Given the description of an element on the screen output the (x, y) to click on. 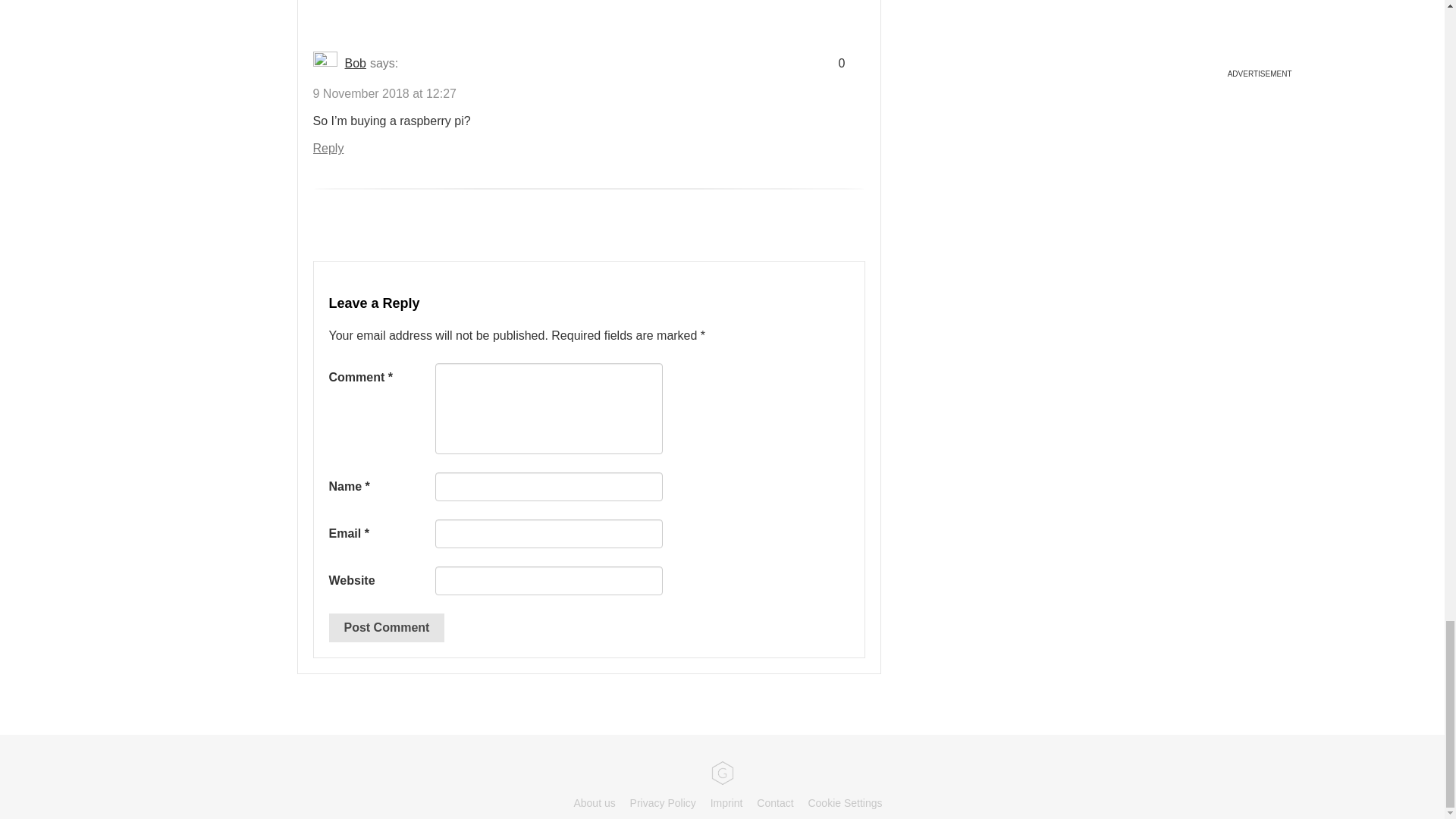
Post Comment (387, 627)
